Given the description of an element on the screen output the (x, y) to click on. 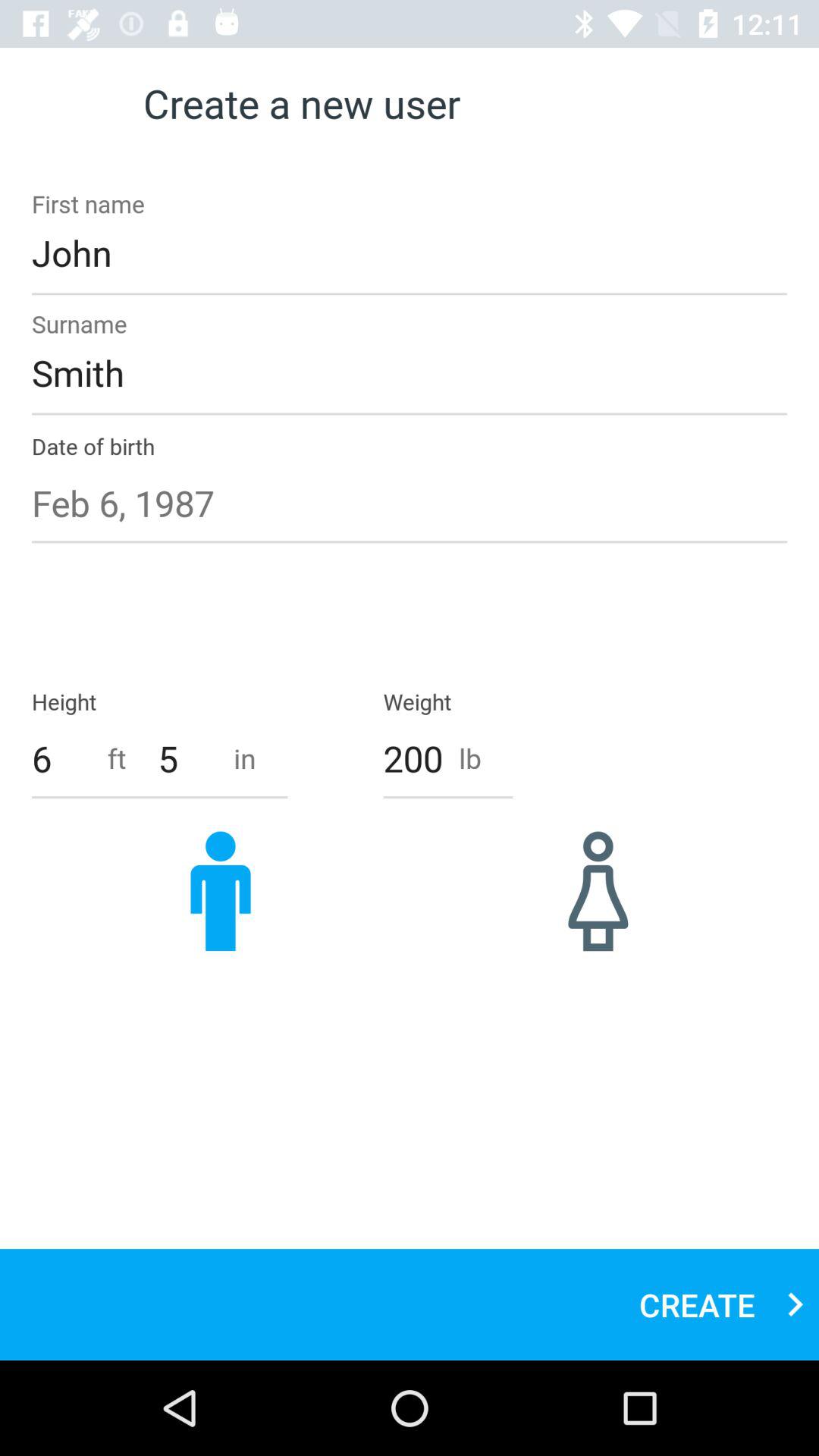
tap icon to the left of the lb item (413, 758)
